Given the description of an element on the screen output the (x, y) to click on. 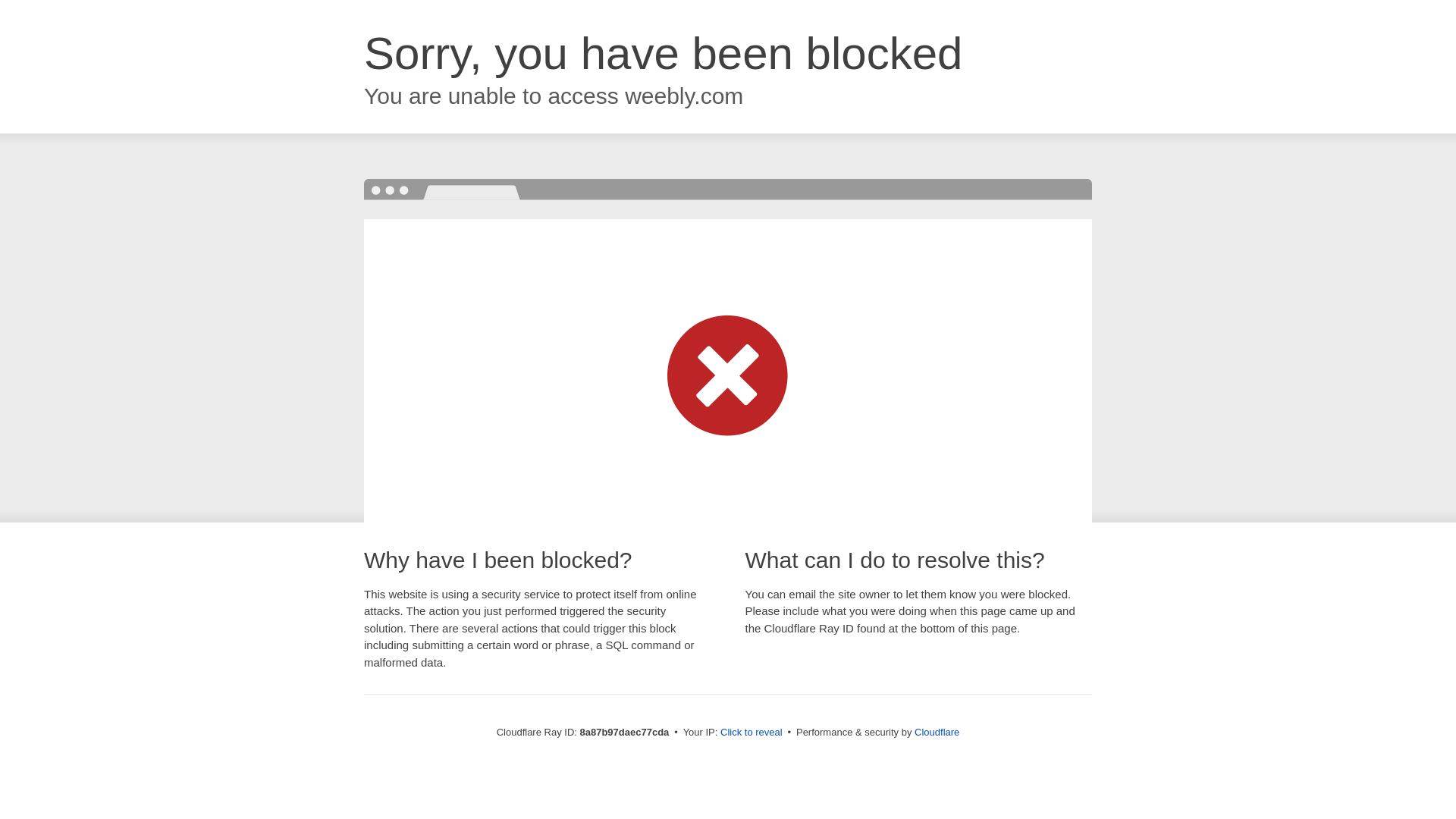
Click to reveal (751, 732)
Cloudflare (936, 731)
